Given the description of an element on the screen output the (x, y) to click on. 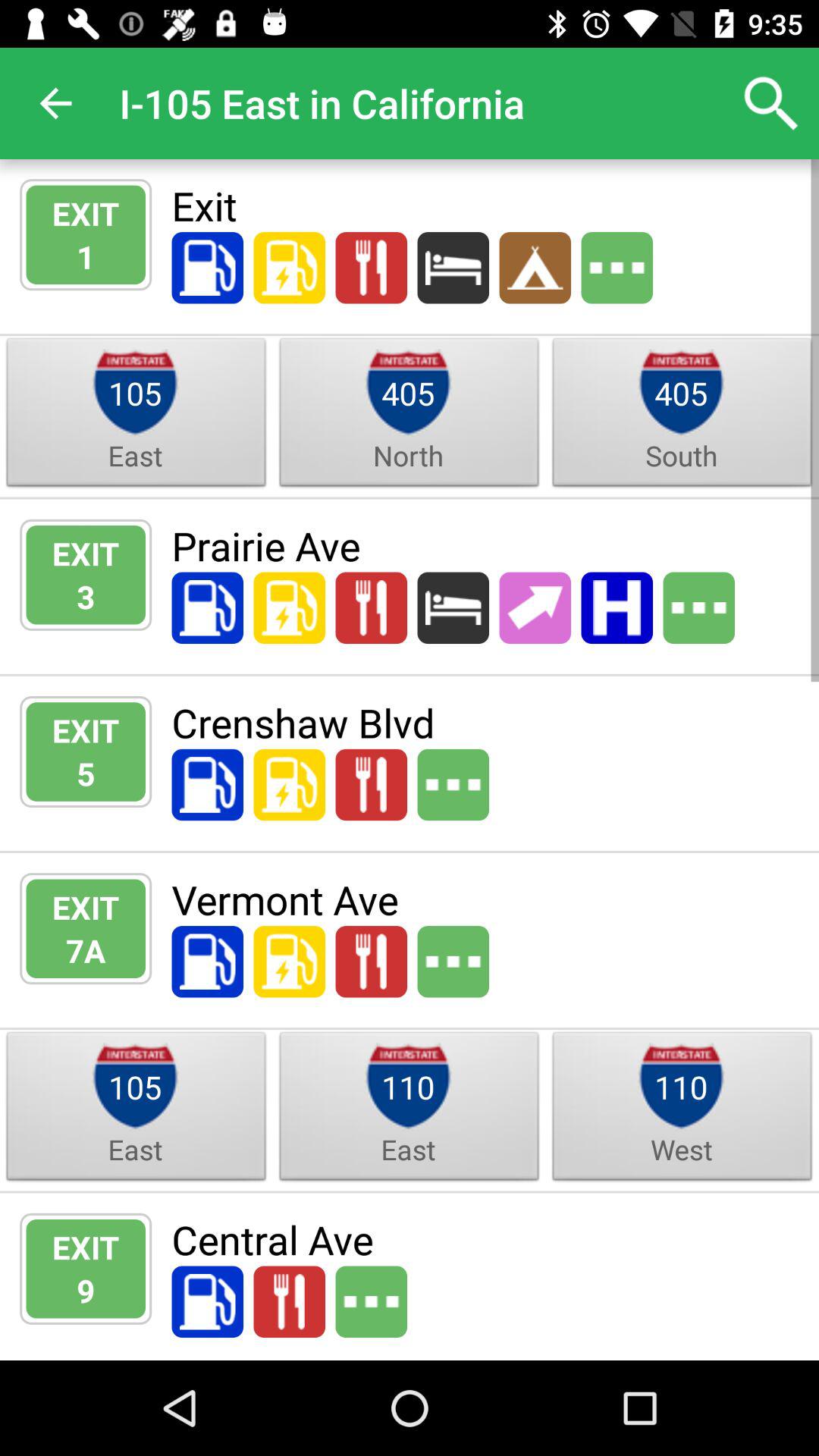
press west item (681, 1149)
